Given the description of an element on the screen output the (x, y) to click on. 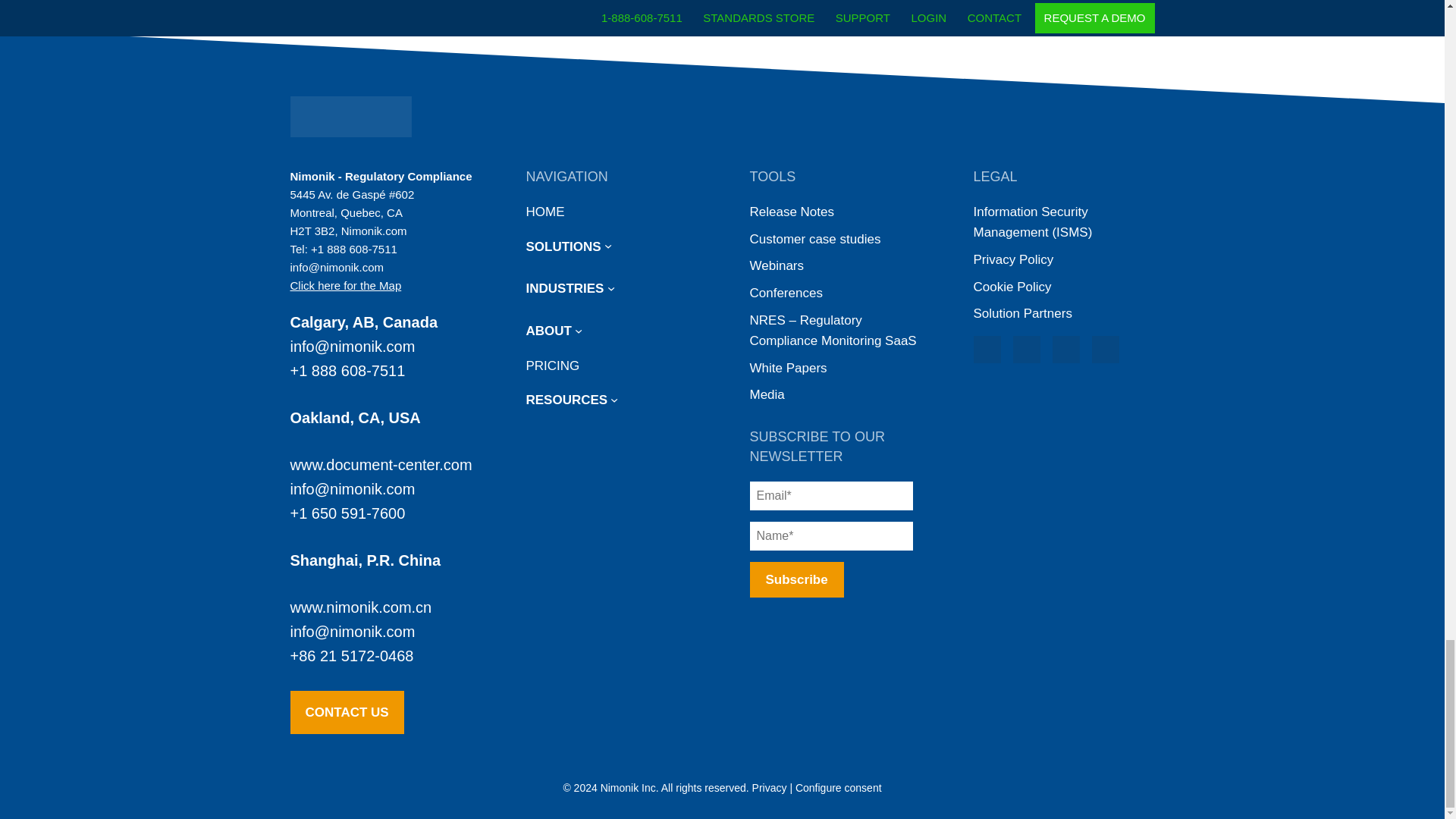
Nimonik inc. (349, 116)
Subscribe (796, 579)
